Given the description of an element on the screen output the (x, y) to click on. 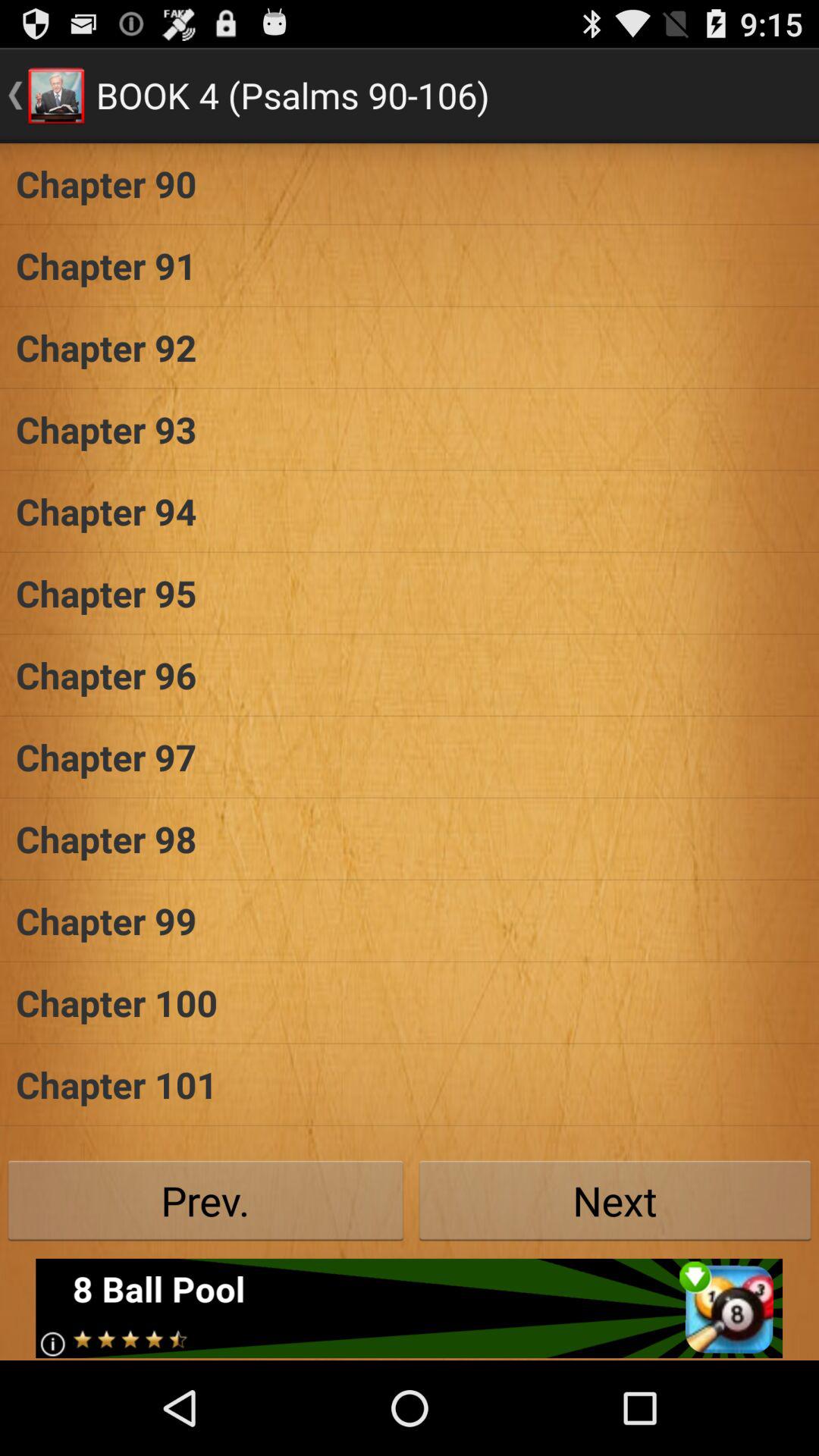
see the advertisement (408, 1308)
